Given the description of an element on the screen output the (x, y) to click on. 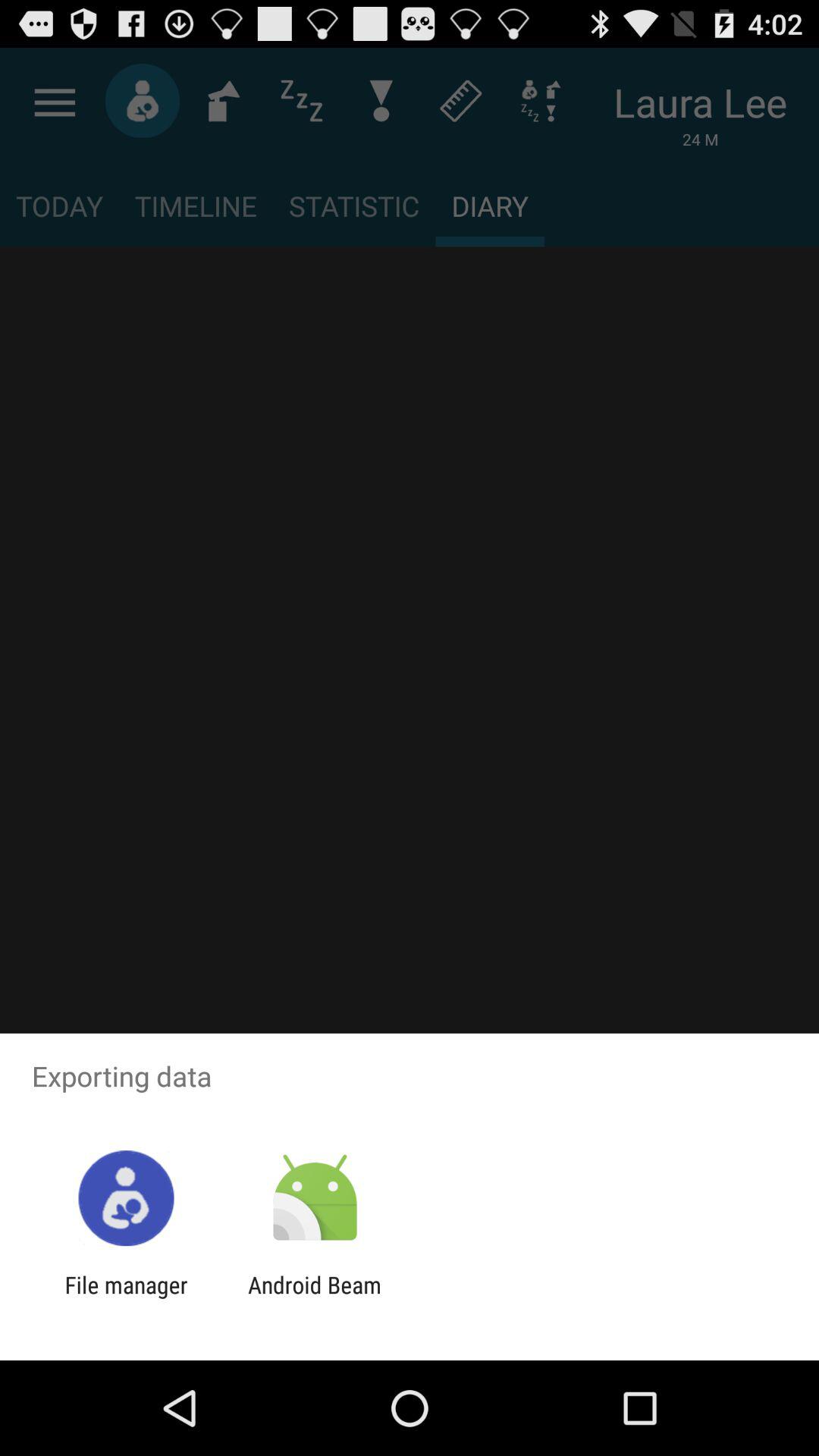
choose the android beam (314, 1298)
